Given the description of an element on the screen output the (x, y) to click on. 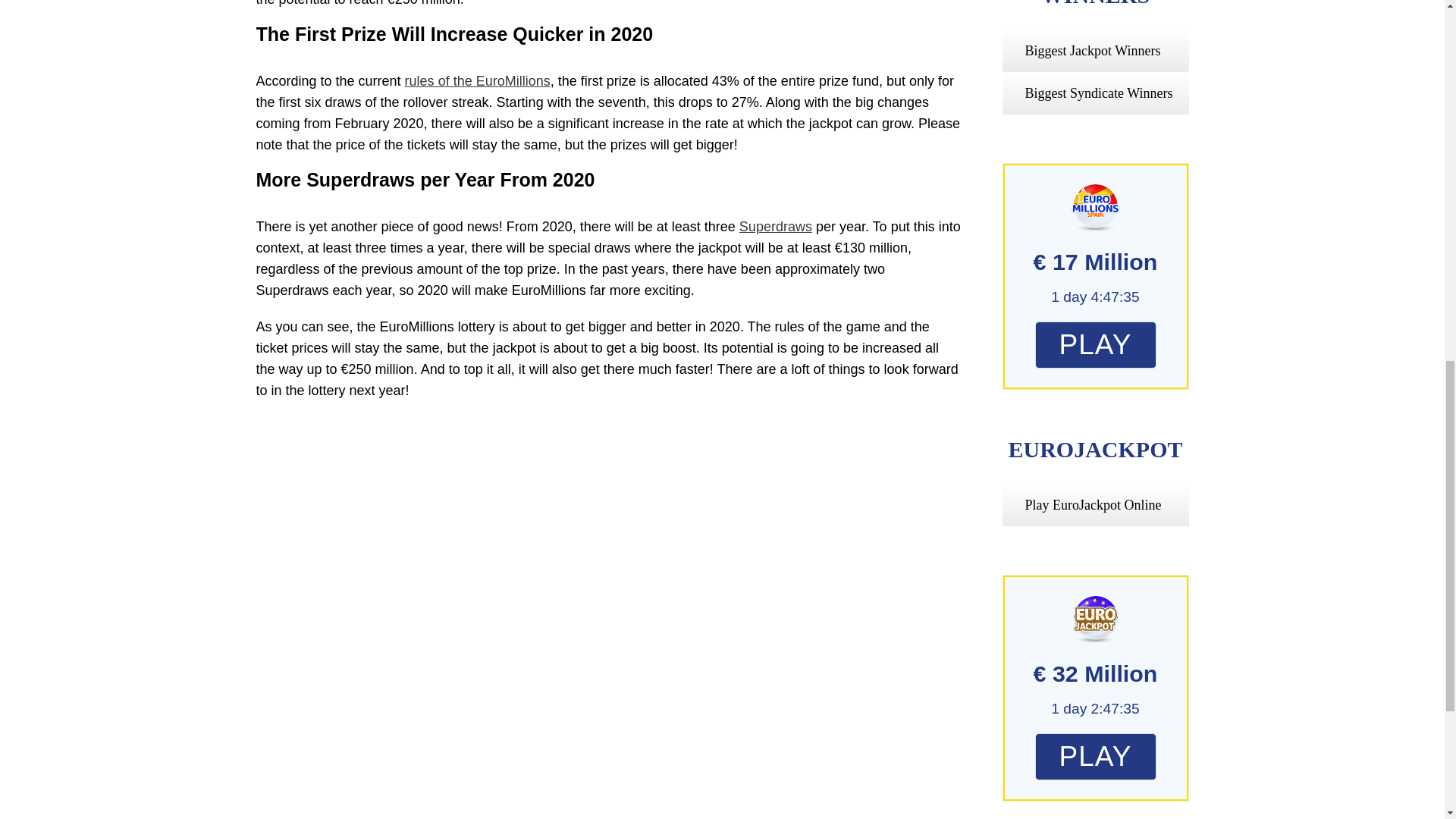
Biggest Syndicate Winners (1099, 92)
Biggest Jackpot Winners (1092, 50)
PLAY (1094, 344)
rules of the EuroMillions (477, 80)
PLAY (1094, 346)
Superdraws (775, 226)
PLAY (1094, 758)
Play EuroJackpot Online (1093, 504)
PLAY (1094, 756)
